Given the description of an element on the screen output the (x, y) to click on. 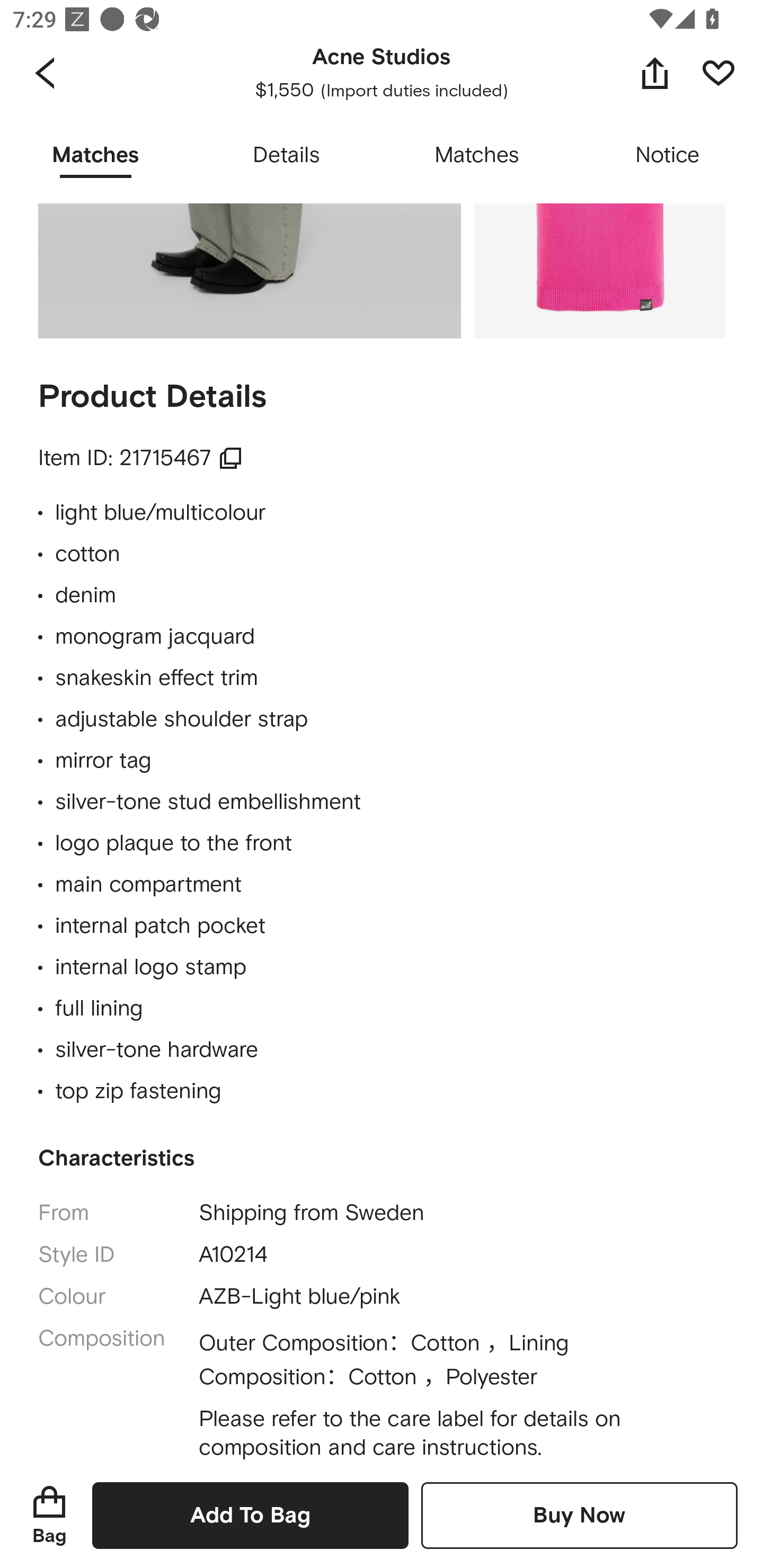
Details (285, 155)
Matches (476, 155)
Notice (667, 155)
Item ID: 21715467 (140, 458)
Bag (49, 1515)
Add To Bag (250, 1515)
Buy Now (579, 1515)
